Given the description of an element on the screen output the (x, y) to click on. 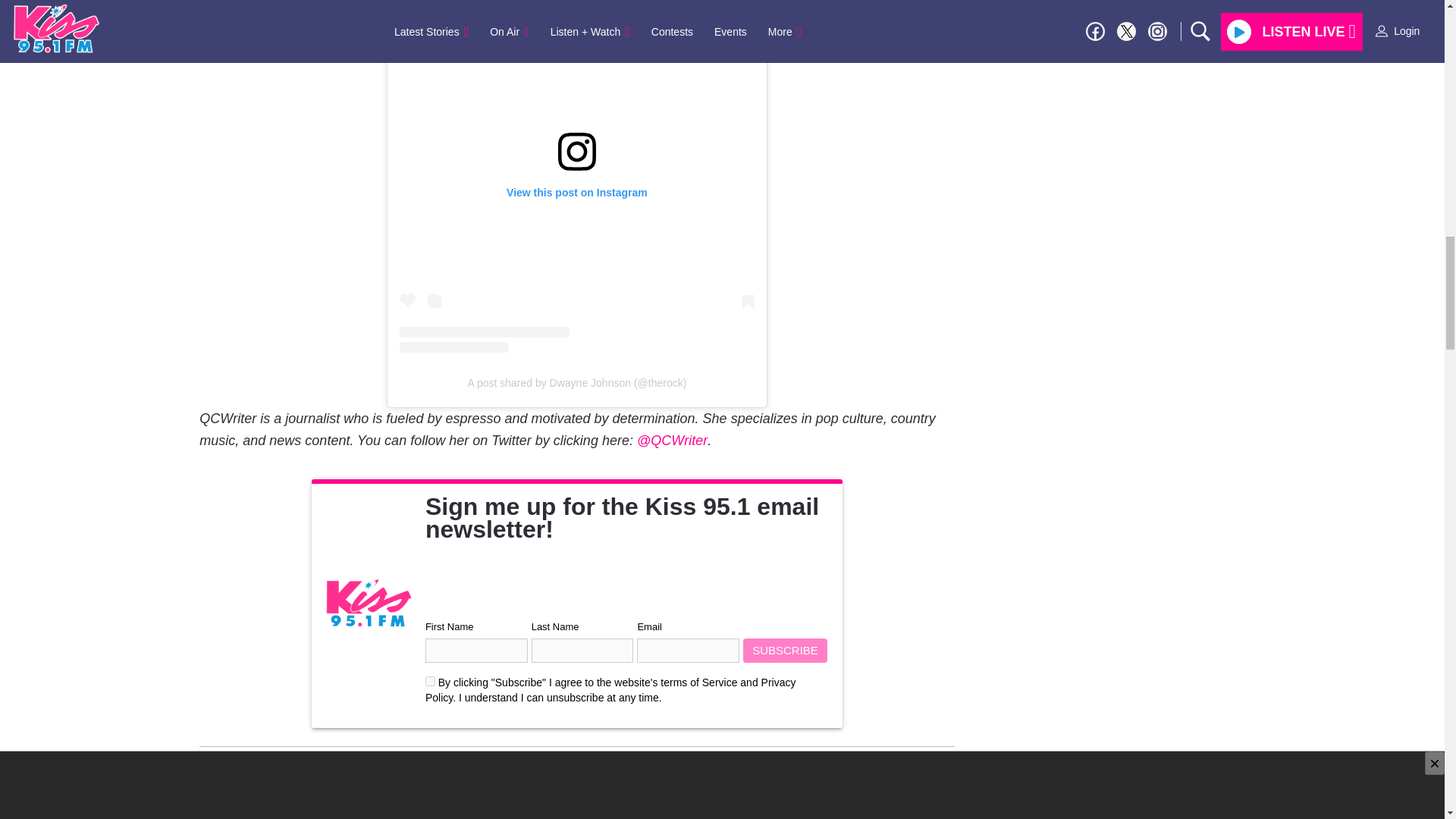
qcwriter (267, 759)
on (430, 681)
